Given the description of an element on the screen output the (x, y) to click on. 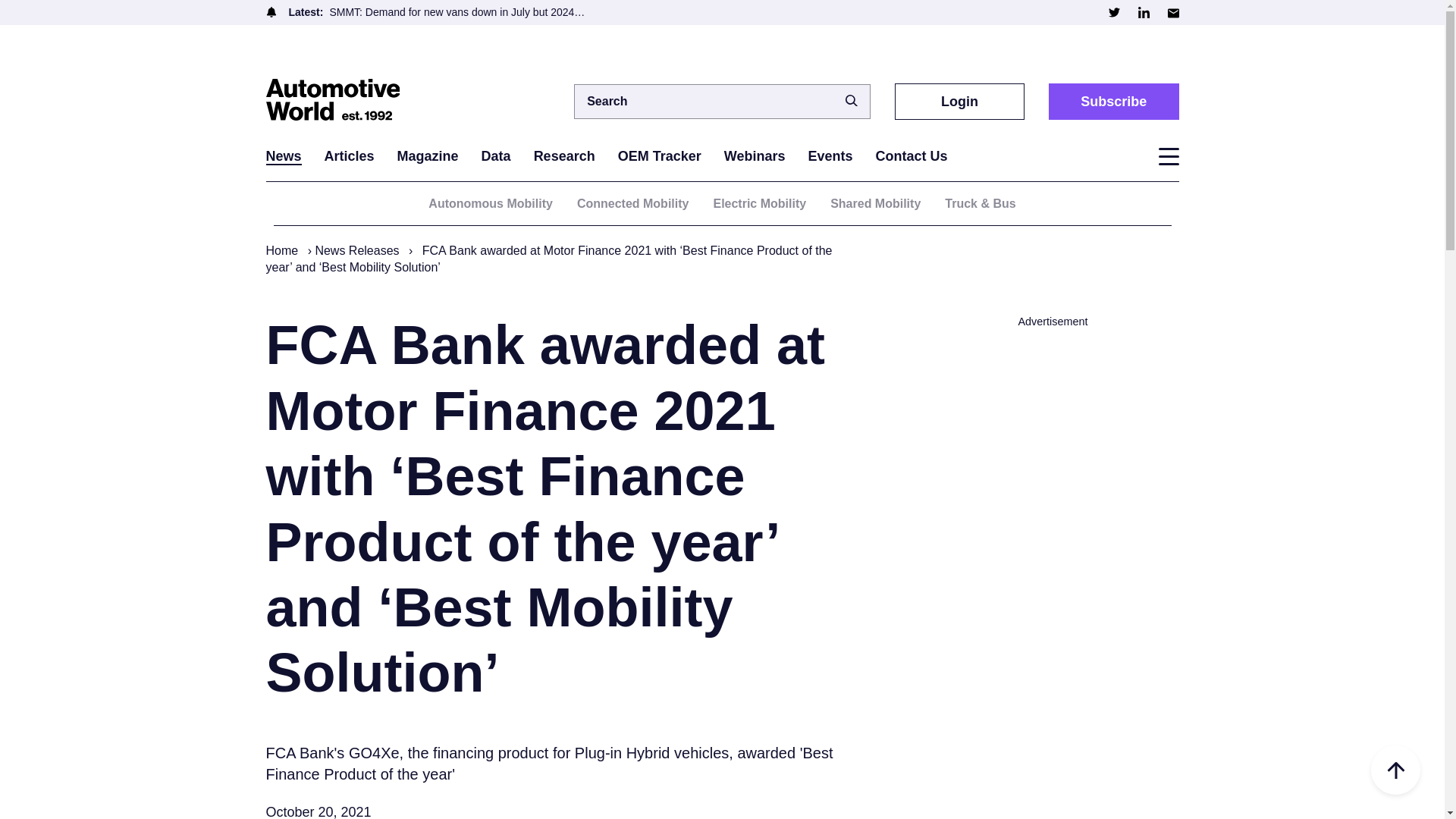
Shared Mobility (874, 203)
Articles (349, 155)
Subscribe (1112, 100)
Twitter (1113, 12)
Autonomous Mobility (490, 203)
Electric Mobility (759, 203)
Login (960, 100)
Automotive World (340, 101)
Data (496, 155)
Linkedin (1142, 12)
